Given the description of an element on the screen output the (x, y) to click on. 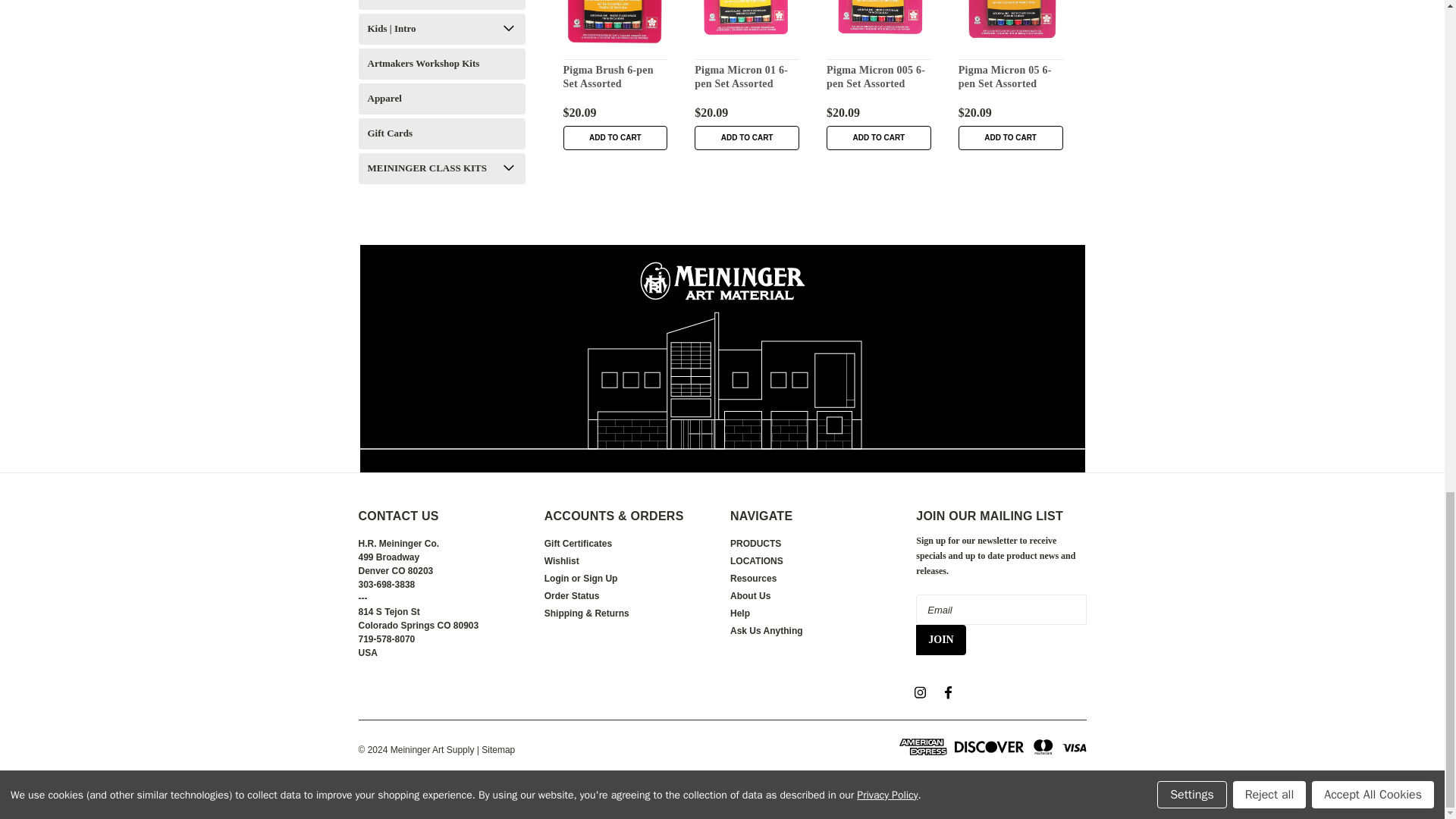
Join (940, 639)
Pigma Brush Assorted Colors 6pc (615, 24)
Micron 01 Assorted Color 6pc (746, 21)
Micron 005 Assorted Color 6pc set (879, 20)
Micron 05 Assorted Color 6pc (1010, 22)
